Given the description of an element on the screen output the (x, y) to click on. 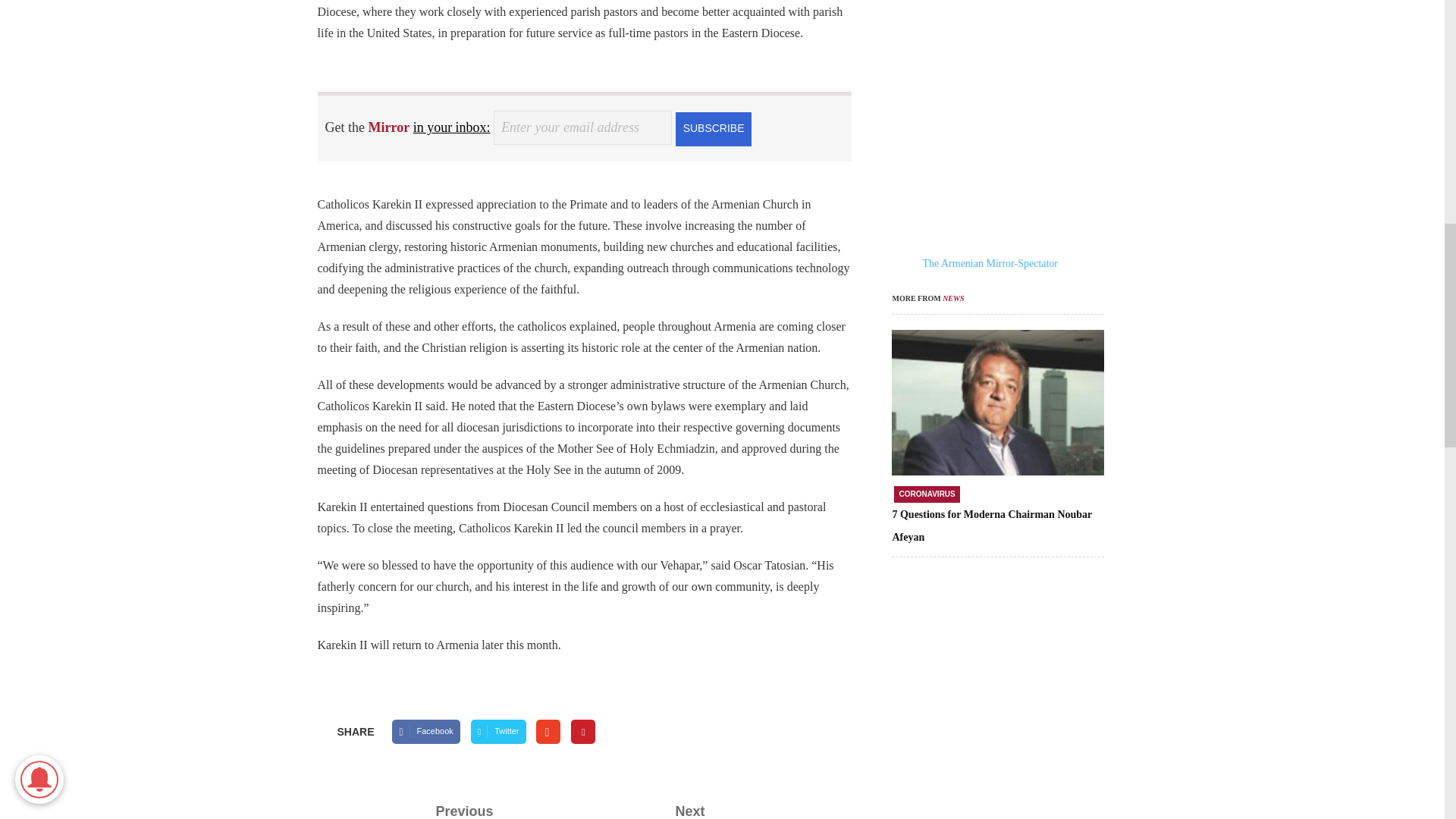
7 Questions for Moderna Chairman Noubar Afeyan (991, 525)
SUBSCRIBE (713, 128)
7 Questions for Moderna Chairman Noubar Afeyan (997, 402)
